Given the description of an element on the screen output the (x, y) to click on. 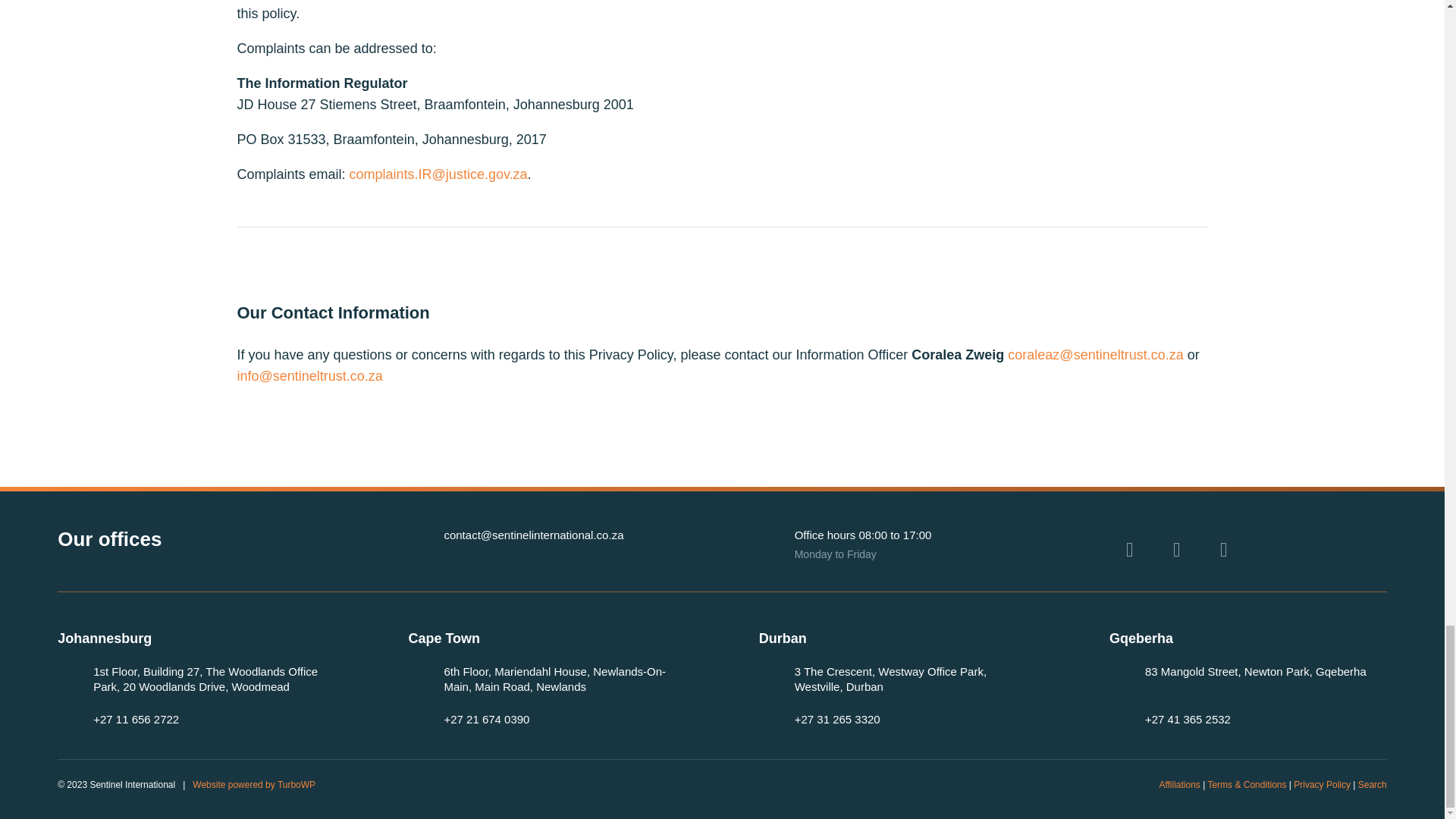
Follow on Instagram (1224, 549)
Follow on Facebook (1176, 549)
Privacy Policy (1322, 784)
Affiliations (1178, 784)
Search (1372, 784)
Follow on LinkedIn (1129, 549)
Website powered by TurboWP (253, 784)
